Given the description of an element on the screen output the (x, y) to click on. 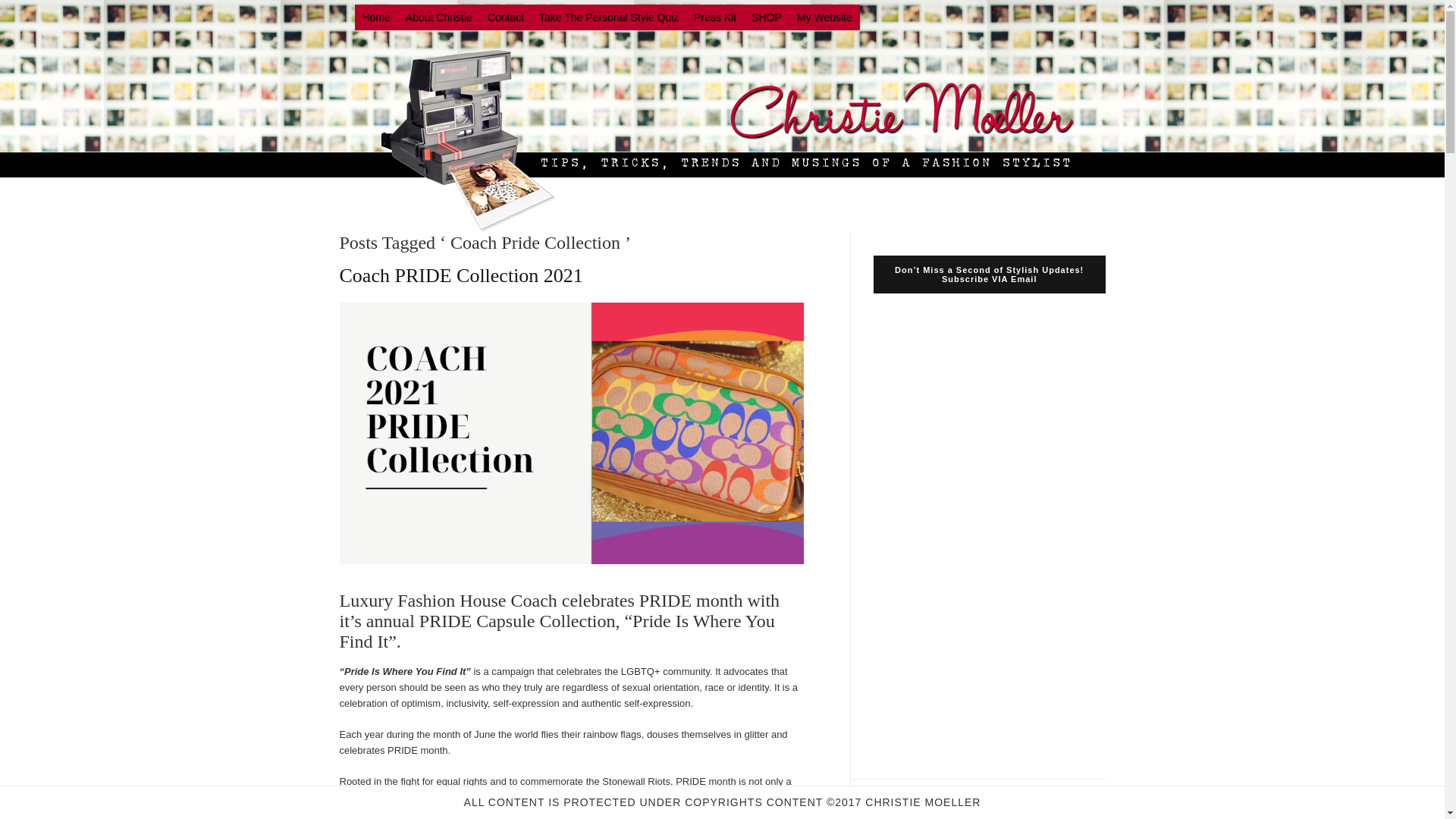
SHOP (766, 17)
Coach PRIDE Collection 2021 (461, 275)
My Website (824, 17)
Contact (505, 17)
Take The Personal Style Quiz (608, 17)
Home (376, 17)
About Christie (438, 17)
Press Kit (714, 17)
